Given the description of an element on the screen output the (x, y) to click on. 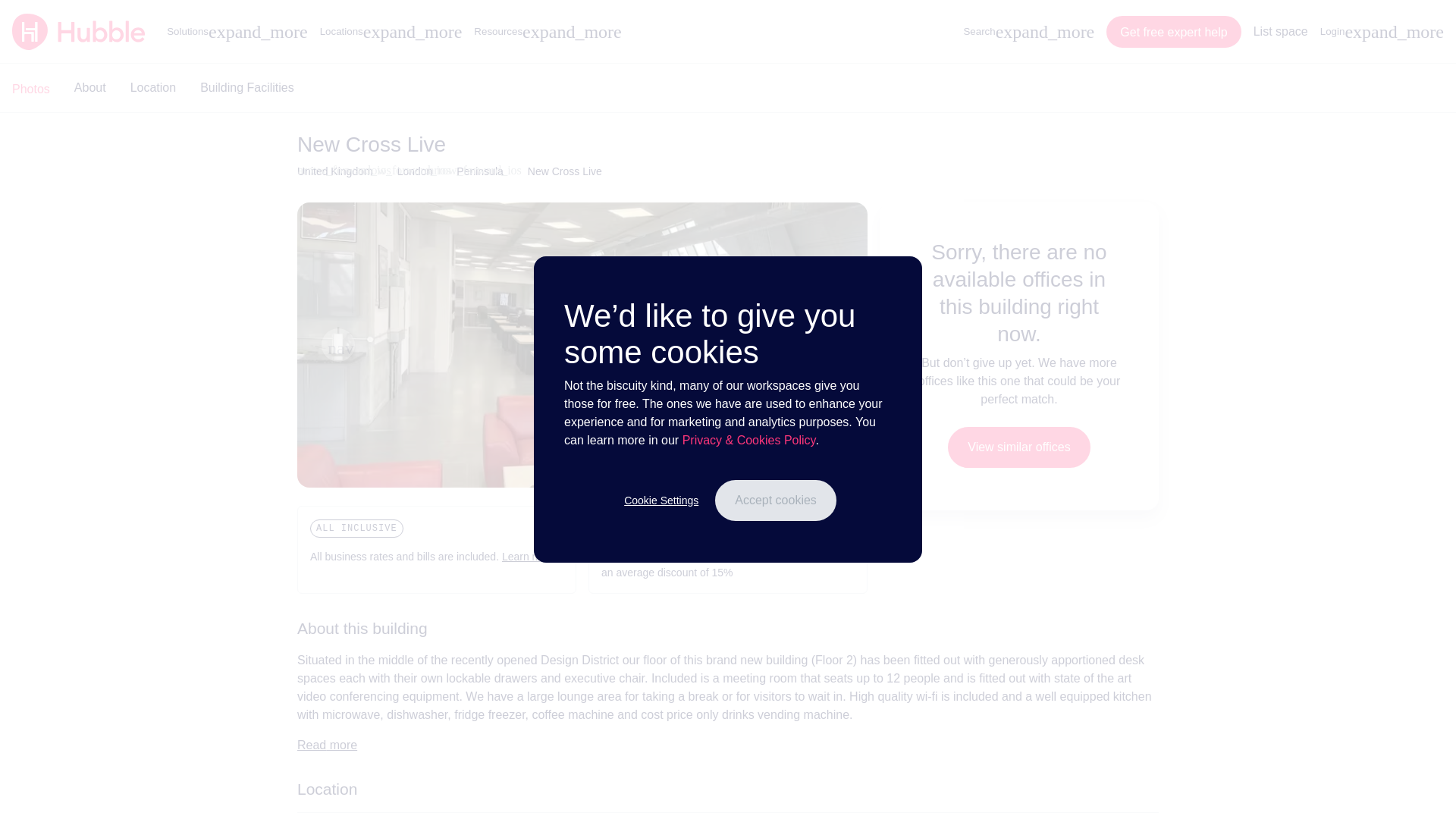
open Locations menu (391, 31)
open Search menu (1028, 31)
open Login menu (1382, 31)
open Solutions menu (237, 31)
open Resources menu (547, 31)
